Given the description of an element on the screen output the (x, y) to click on. 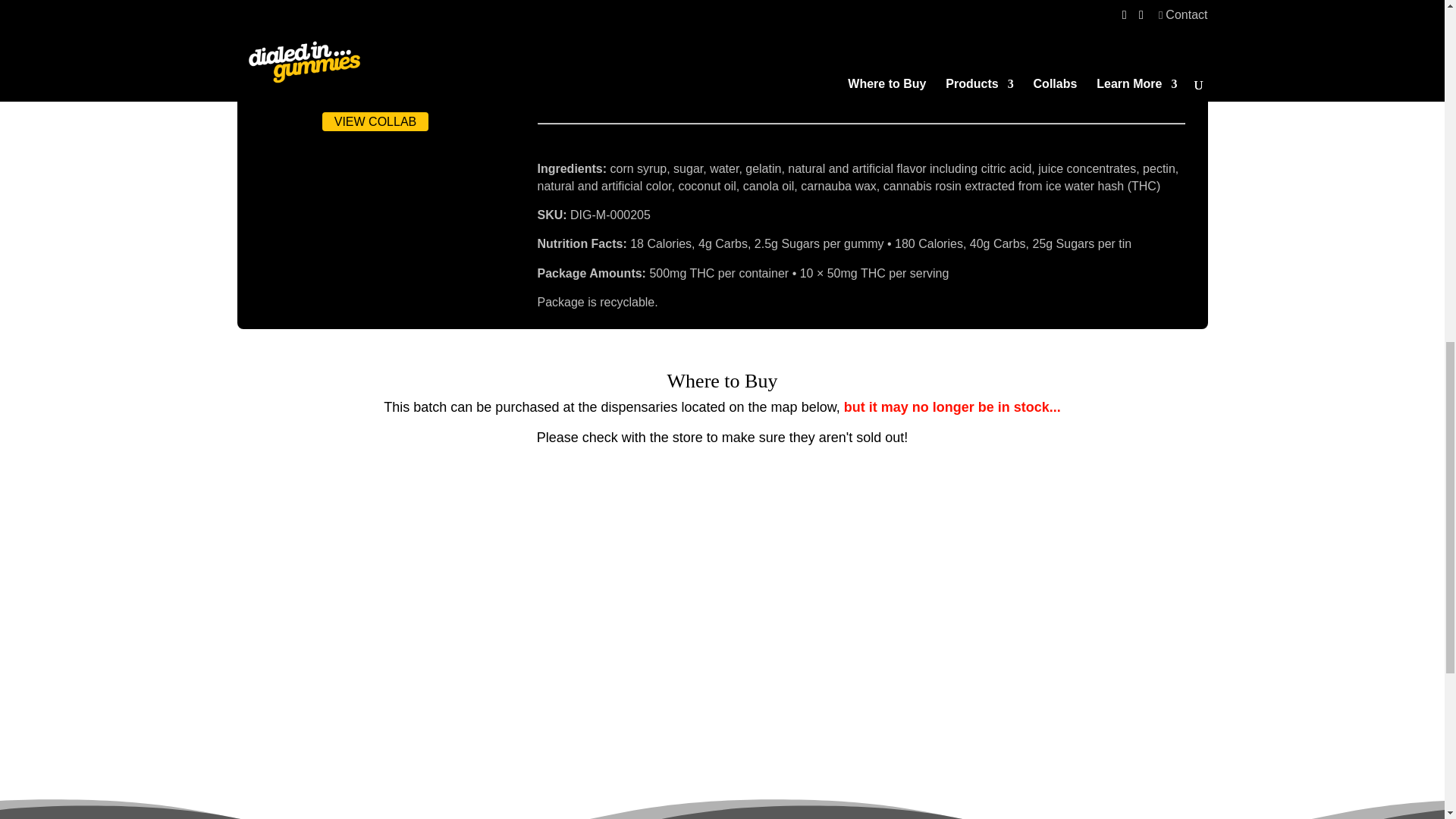
VIEW COLLAB (374, 121)
